Given the description of an element on the screen output the (x, y) to click on. 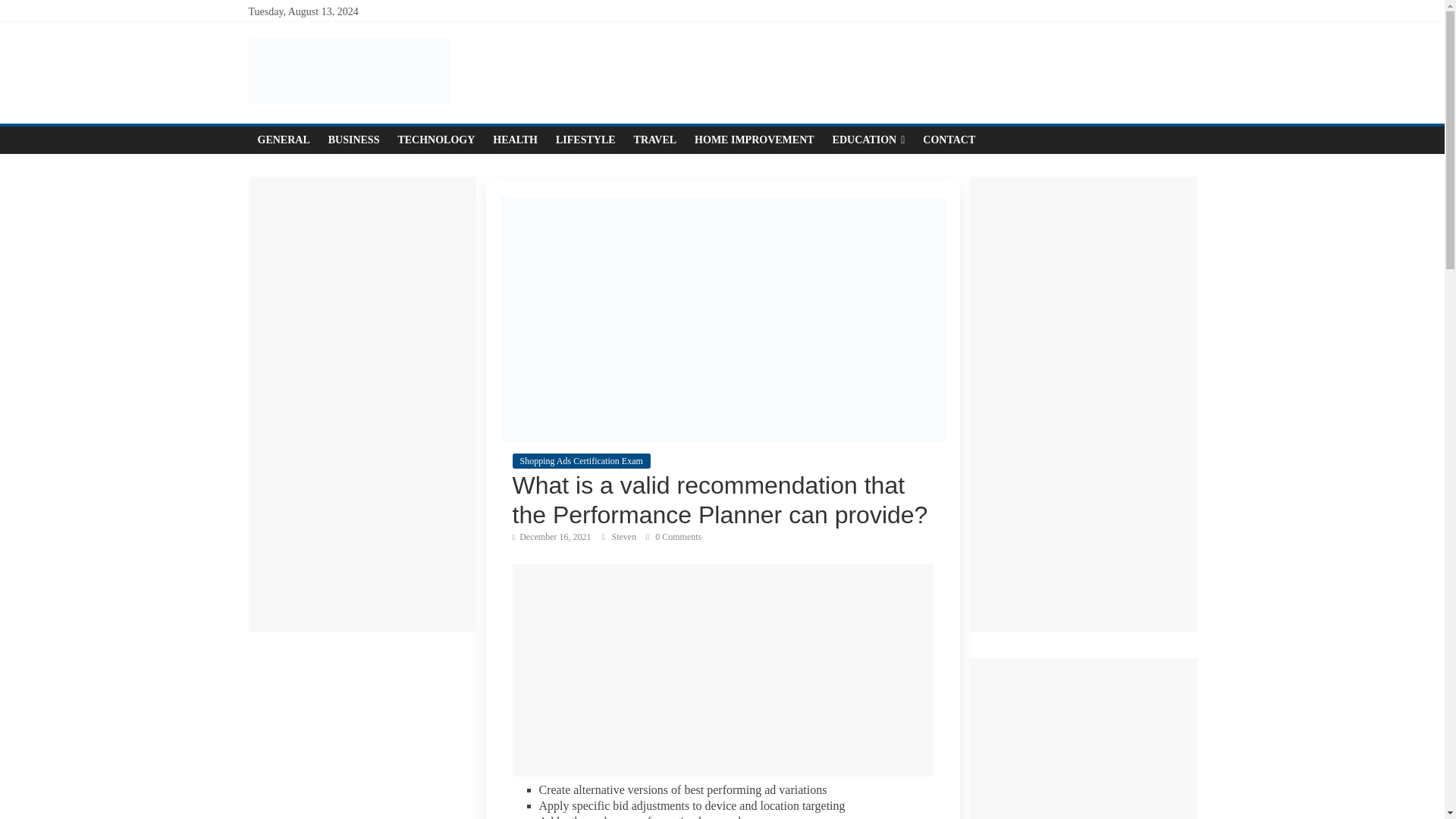
Advertisement (1082, 738)
TRAVEL (654, 139)
6:55 pm (551, 536)
Advertisement (362, 730)
Steven (625, 536)
LIFESTYLE (585, 139)
BUSINESS (353, 139)
TECHNOLOGY (435, 139)
Advertisement (722, 670)
EDUCATION (869, 139)
